Given the description of an element on the screen output the (x, y) to click on. 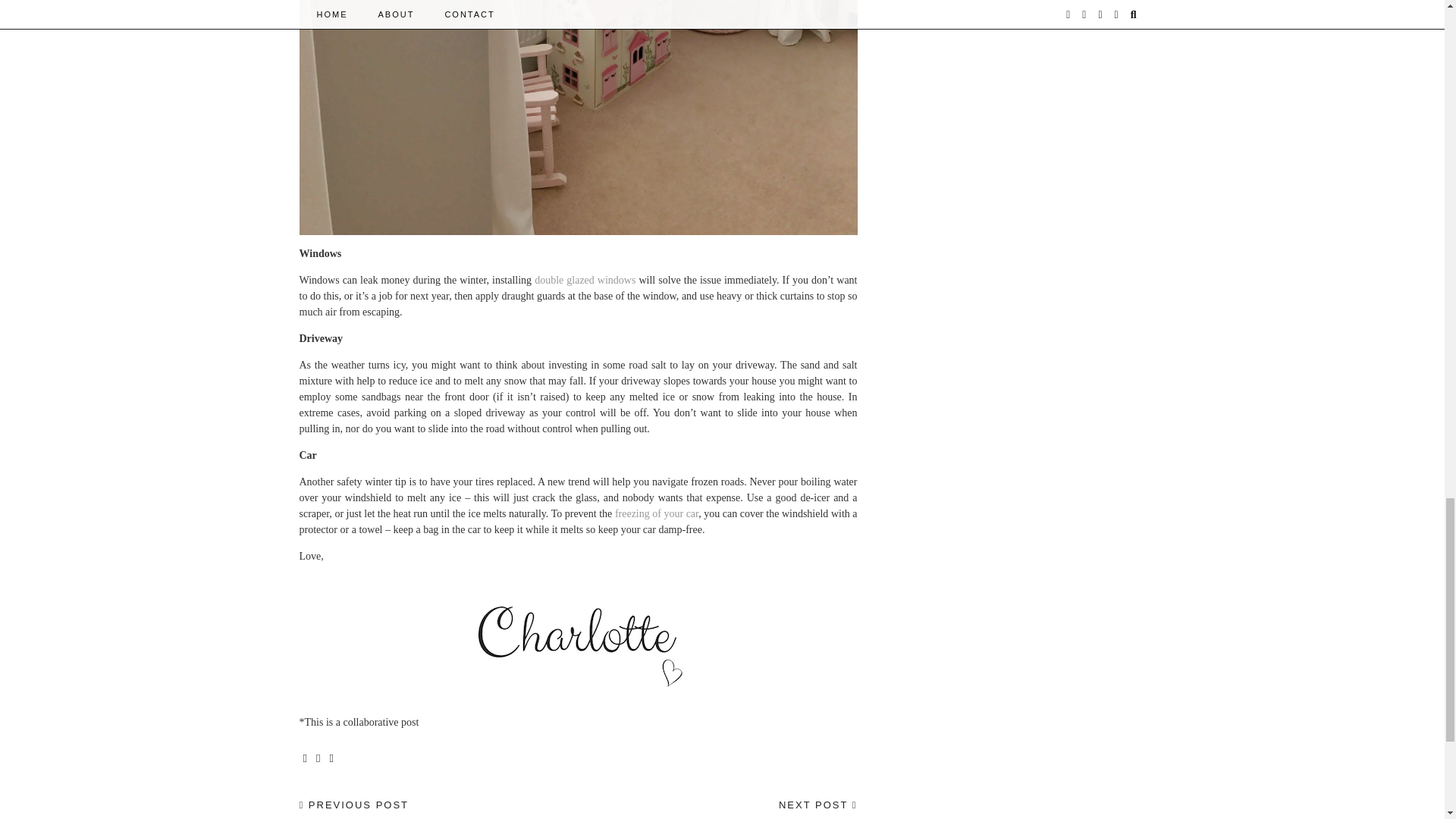
double glazed windows (756, 803)
freezing of your car (584, 279)
Share on Facebook (656, 513)
